Given the description of an element on the screen output the (x, y) to click on. 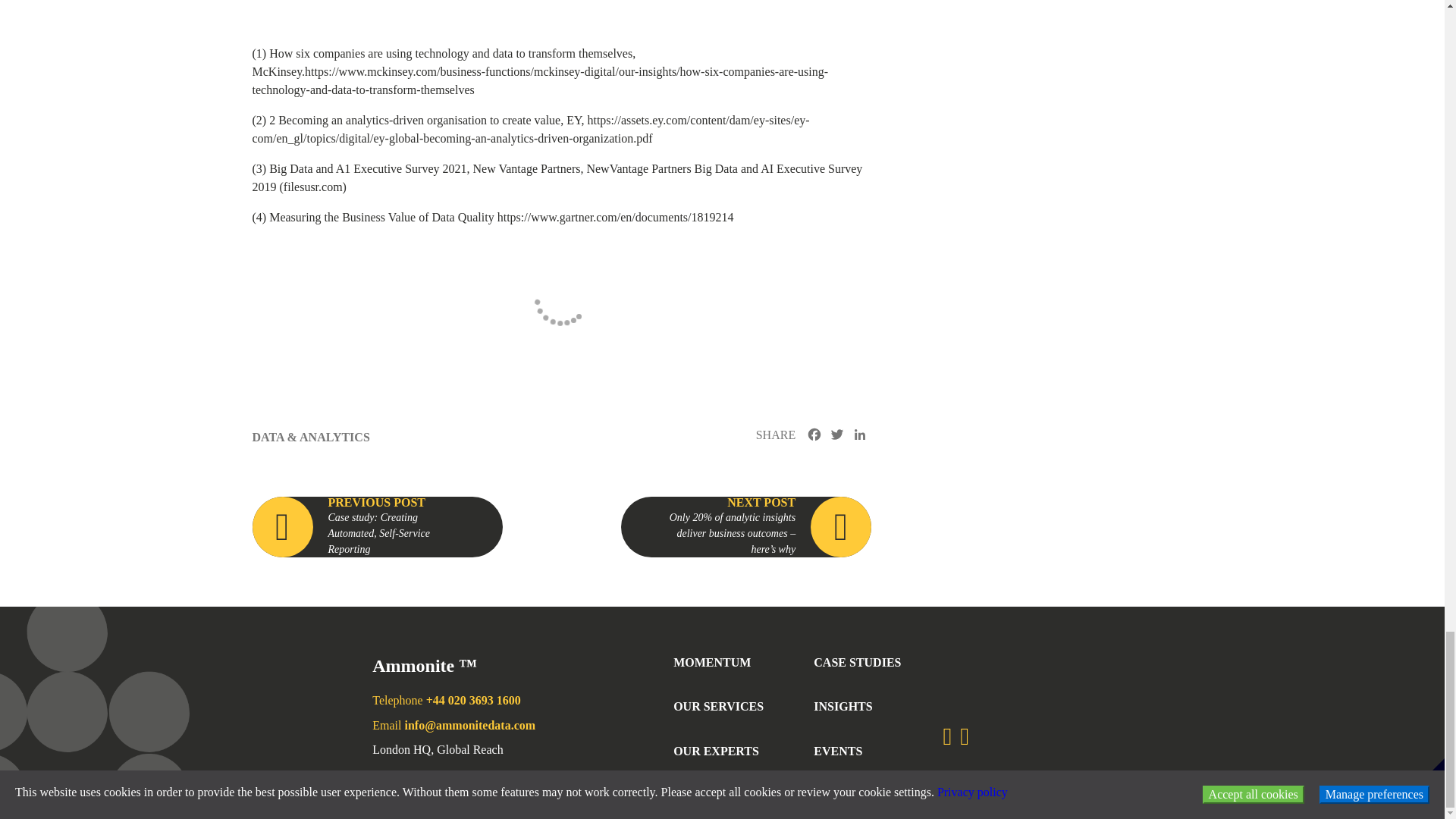
Facebook (814, 436)
Twitter (836, 436)
TWITTER (836, 436)
FACEBOOK (814, 436)
LINKEDIN (859, 436)
LinkedIn (859, 436)
